Given the description of an element on the screen output the (x, y) to click on. 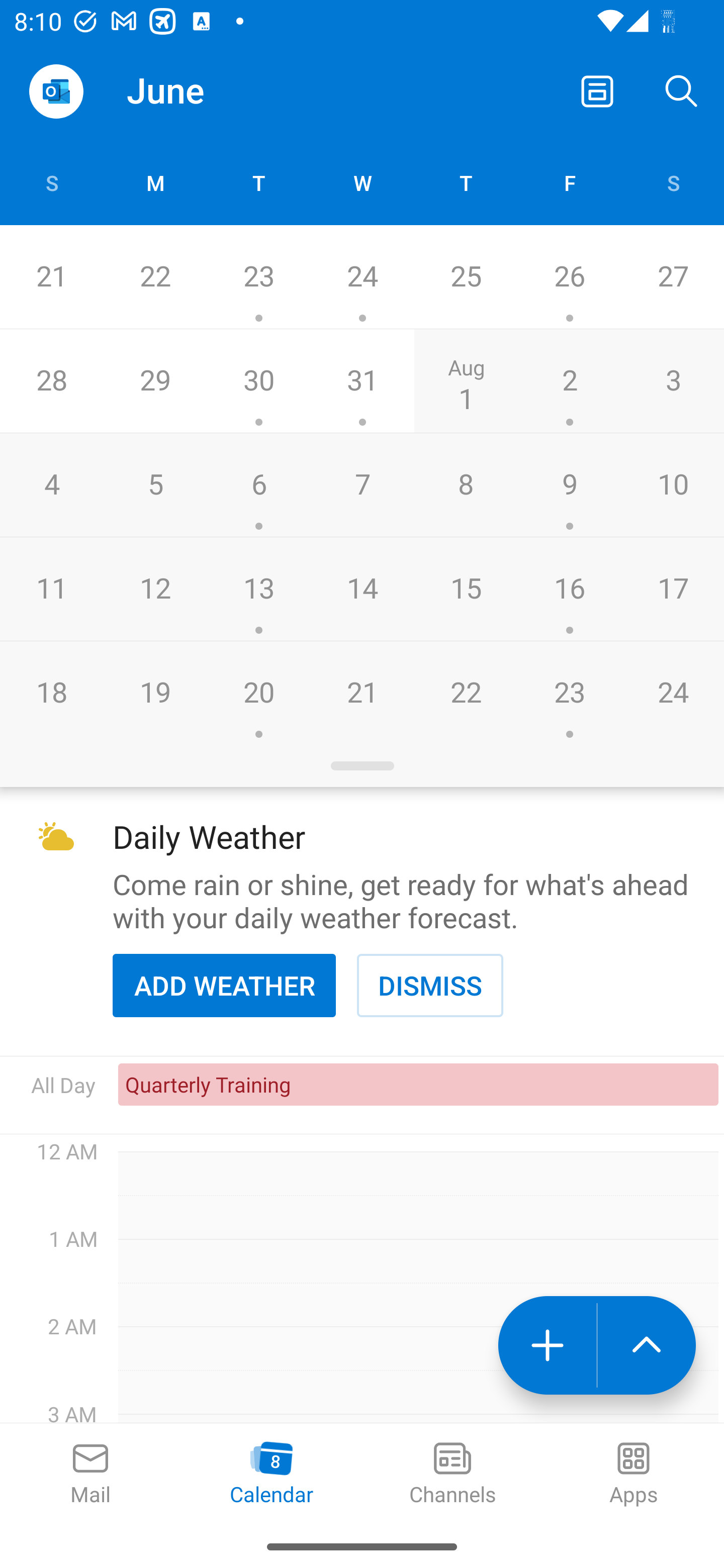
June June 2024, day picker (203, 90)
Switch away from Day view (597, 90)
Search, ,  (681, 90)
Open Navigation Drawer (55, 91)
21 Sunday, July 21 (51, 277)
22 Monday, July 22 (155, 277)
23 Events on Tuesday, July 23 (258, 277)
24 Events on Wednesday, July 24 (362, 277)
25 Thursday, July 25 (465, 277)
26 Events on Friday, July 26 (569, 277)
27 Saturday, July 27 (672, 277)
28 Sunday, July 28 (51, 380)
29 Monday, July 29 (155, 380)
30 Events on Tuesday, July 30 (258, 380)
31 Events on Wednesday, July 31 (362, 380)
Aug
1 Events on Thursday, August 1 (465, 380)
2 Events on Friday, August 2 (569, 380)
3 Saturday, August 3 (672, 380)
4 Sunday, August 4 (51, 484)
5 Monday, August 5 (155, 484)
